Given the description of an element on the screen output the (x, y) to click on. 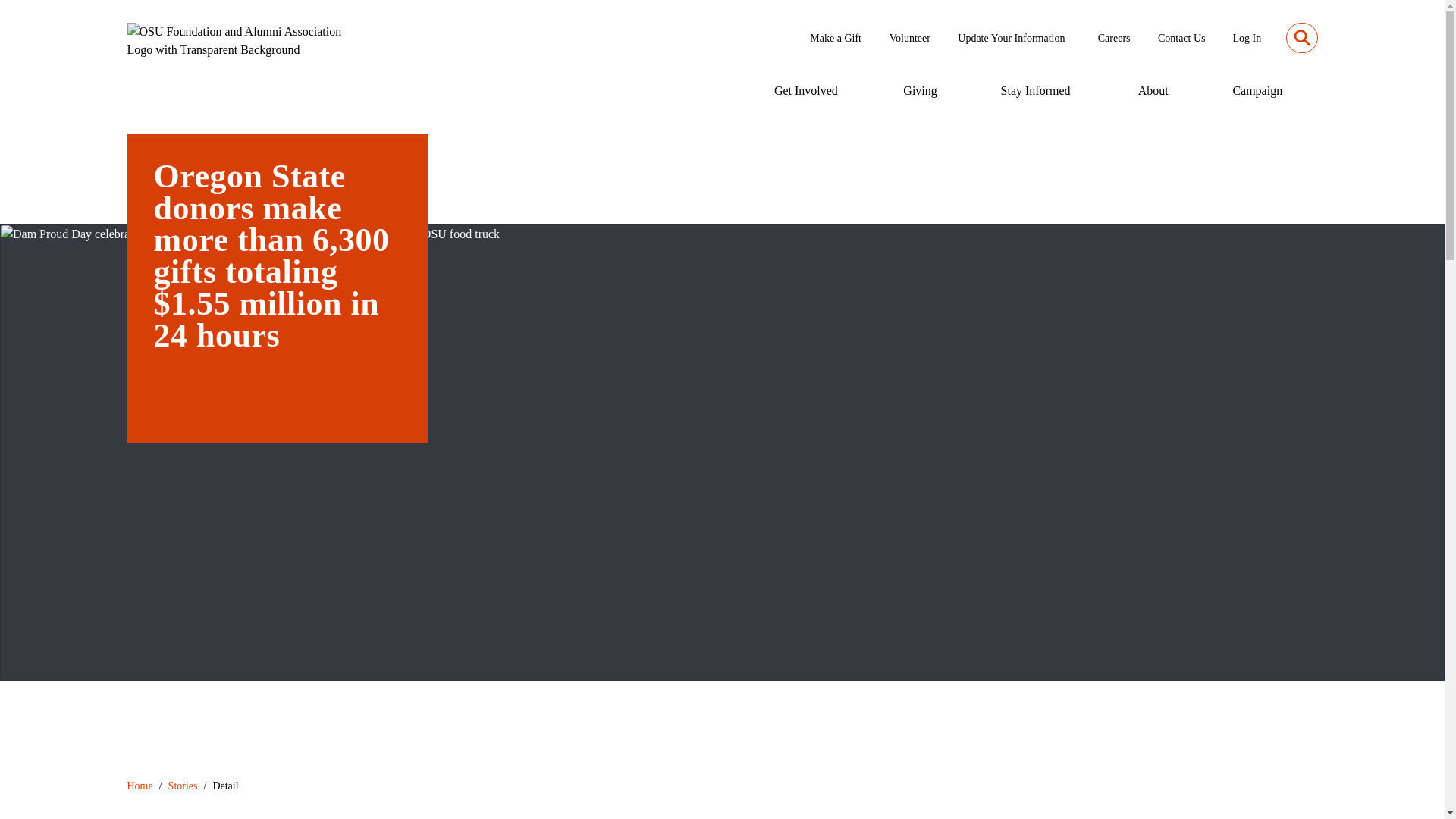
Volunteer (911, 38)
Careers (1115, 38)
About (1154, 91)
Make a Gift (836, 38)
Get Involved (807, 91)
Stay Informed (1037, 91)
Make a Gift (836, 38)
Campaign (1258, 91)
Careers (1115, 38)
Get Involved (807, 91)
